Given the description of an element on the screen output the (x, y) to click on. 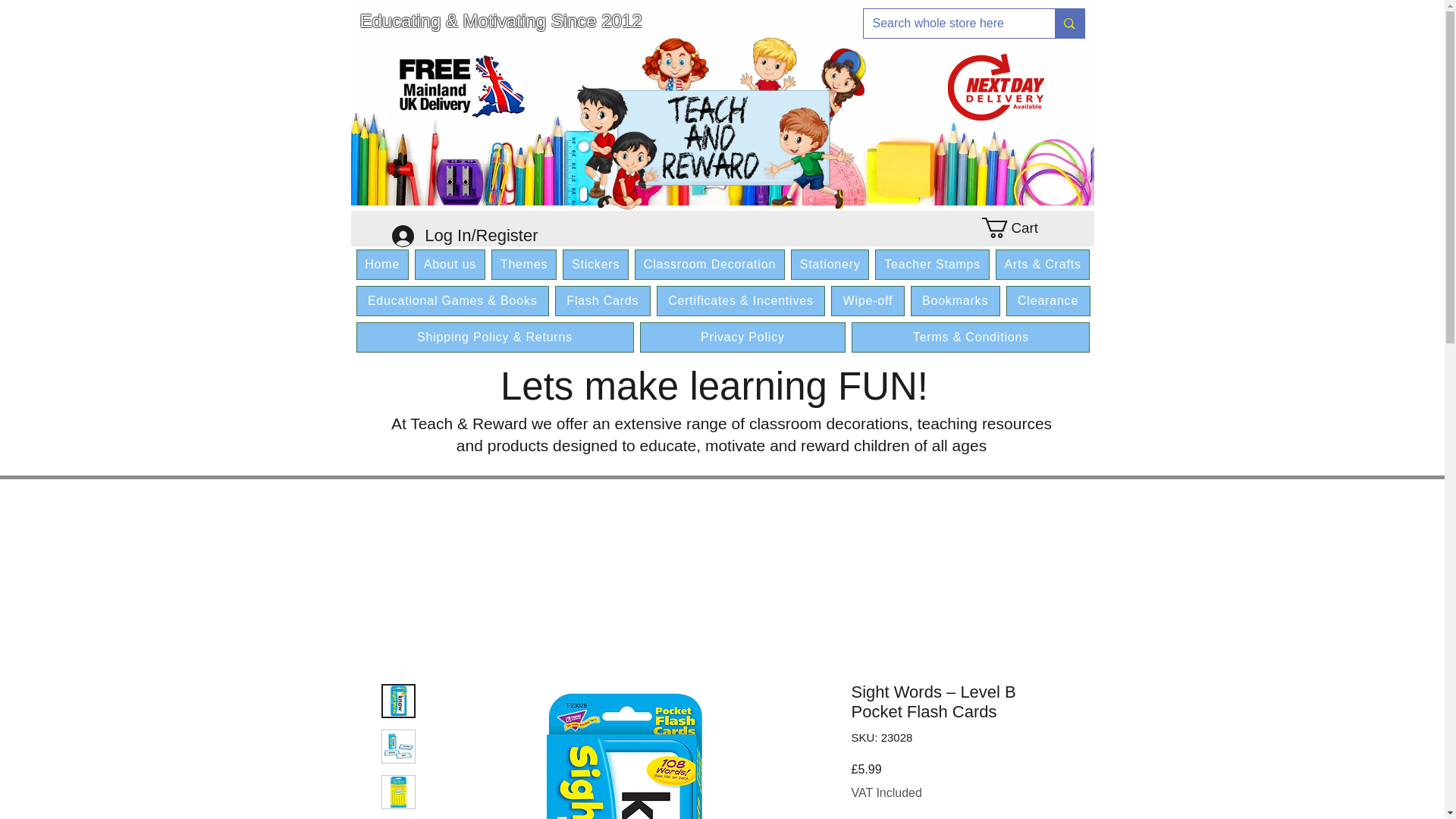
Themes (524, 264)
Home (382, 264)
Cart (1018, 227)
Stickers (595, 264)
Stationery (829, 264)
Teacher Stamps (931, 264)
Classroom Decoration (709, 264)
About us (449, 264)
Cart (1018, 227)
